Given the description of an element on the screen output the (x, y) to click on. 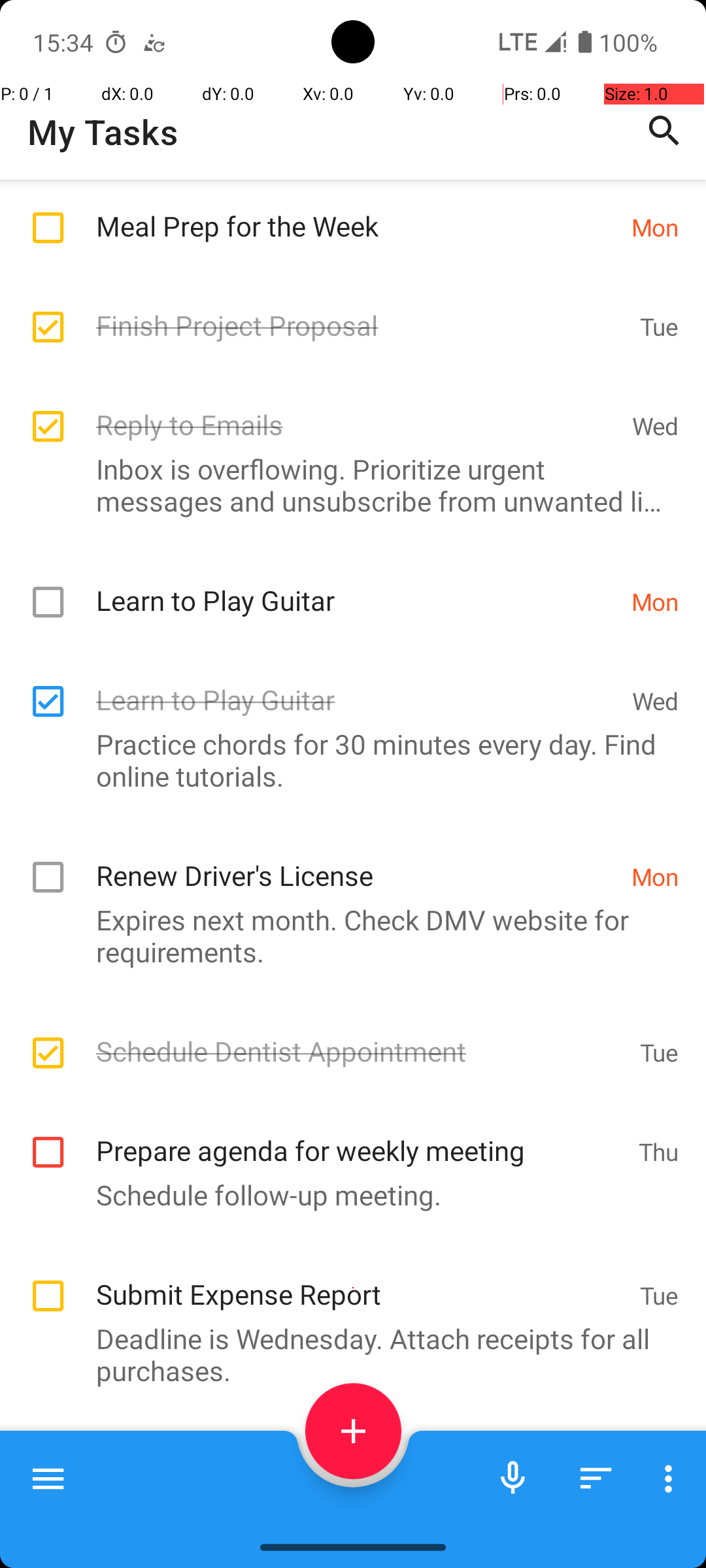
Practice chords for 30 minutes every day. Find online tutorials. Element type: android.widget.TextView (346, 759)
Prepare agenda for weekly meeting Element type: android.widget.TextView (360, 1136)
Schedule follow-up meeting. Element type: android.widget.TextView (346, 1194)
